Given the description of an element on the screen output the (x, y) to click on. 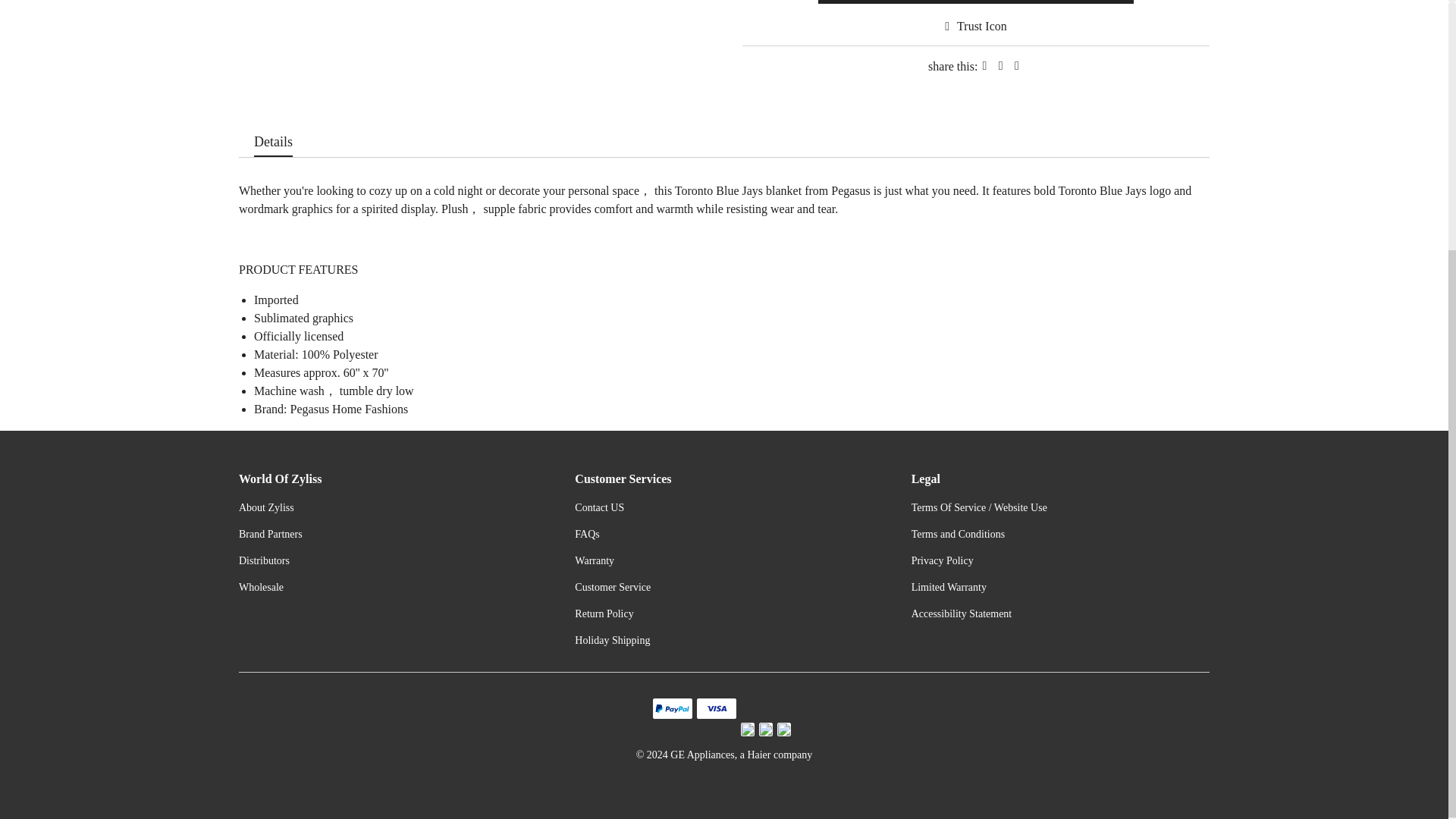
Return Policy (604, 613)
Distributors (263, 560)
Customer Service (612, 586)
Contact US (599, 507)
Buy It Now (976, 2)
About Zyliss (266, 507)
Warranty (594, 560)
Brand Partners (270, 533)
FAQs (586, 533)
Wholesale (260, 586)
